Given the description of an element on the screen output the (x, y) to click on. 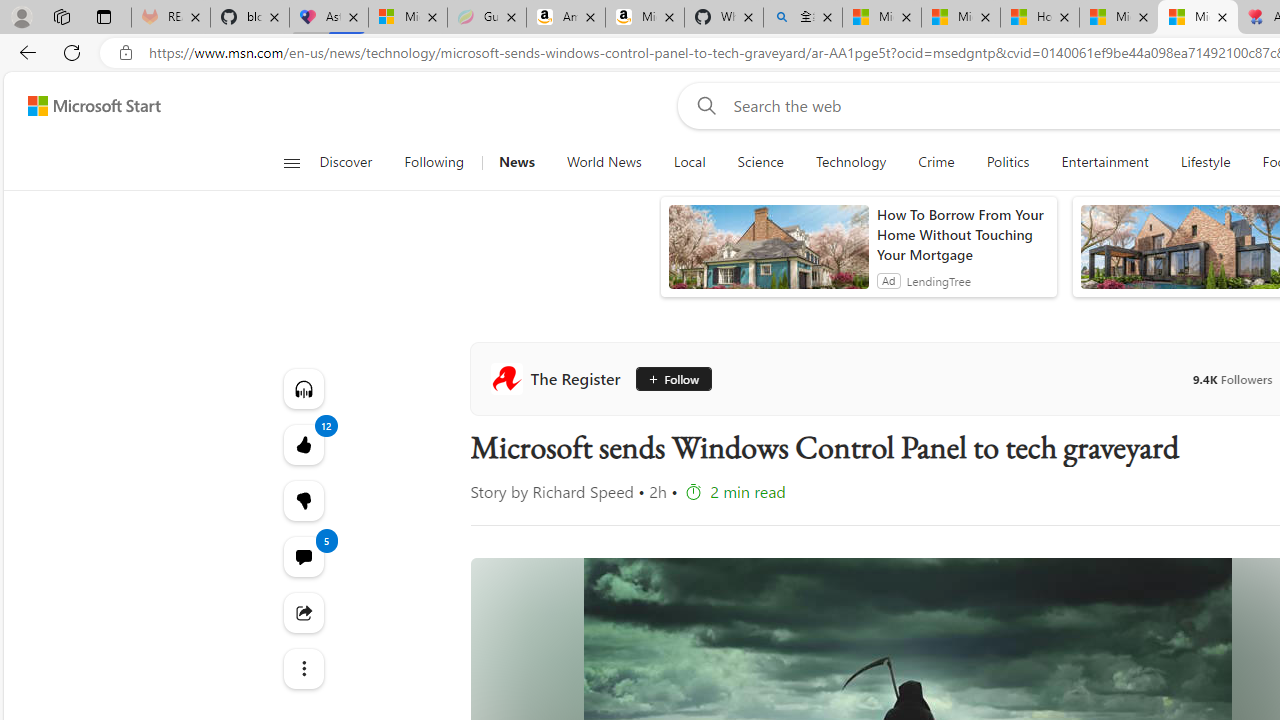
Microsoft sends Windows Control Panel to tech graveyard (1197, 17)
Technology (851, 162)
Lifestyle (1205, 162)
Local (688, 162)
How To Borrow From Your Home Without Touching Your Mortgage (962, 234)
